Given the description of an element on the screen output the (x, y) to click on. 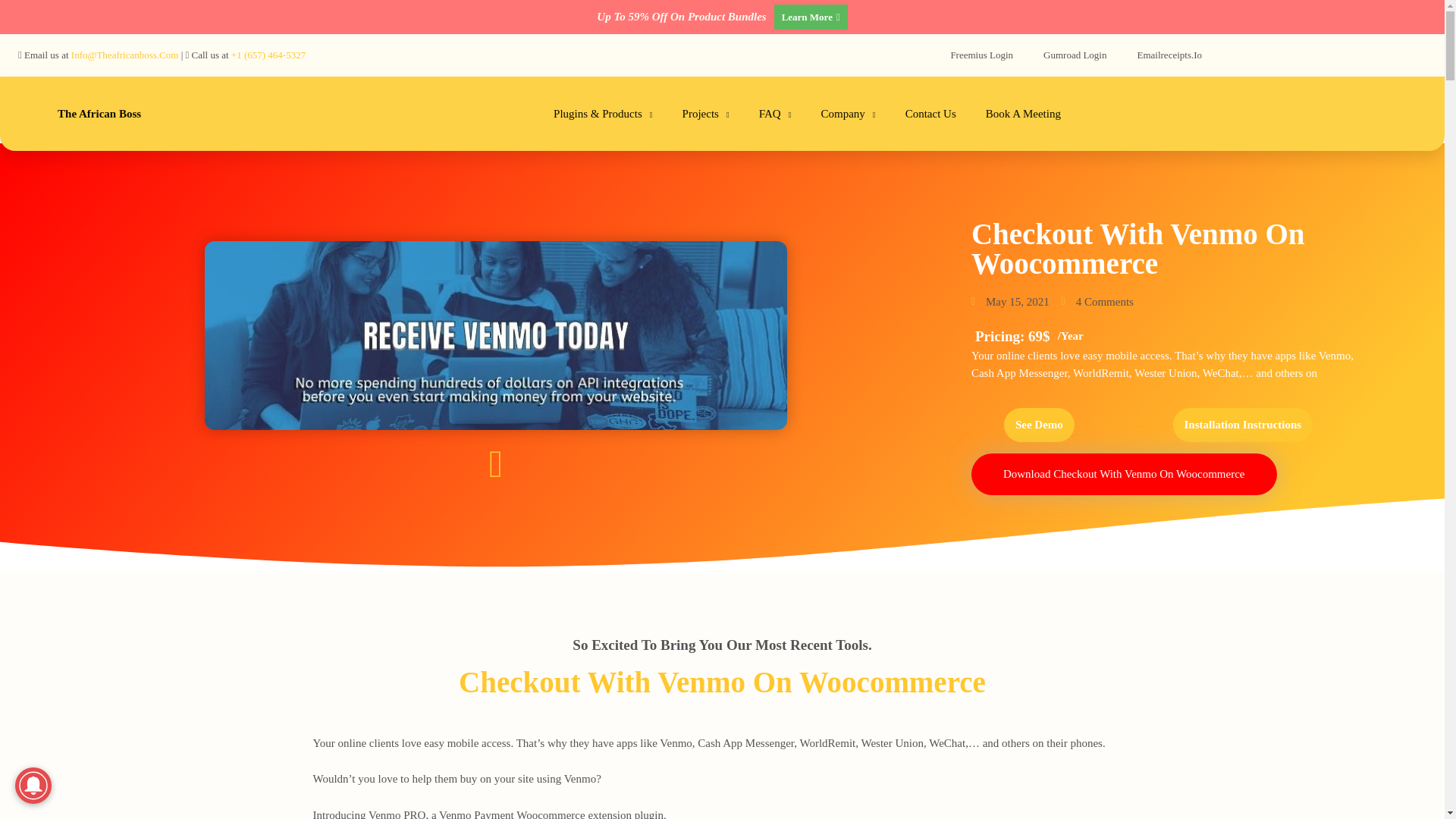
Learn More (810, 16)
The African Boss (99, 113)
Emailreceipts.Io (1169, 54)
Projects (705, 113)
